Given the description of an element on the screen output the (x, y) to click on. 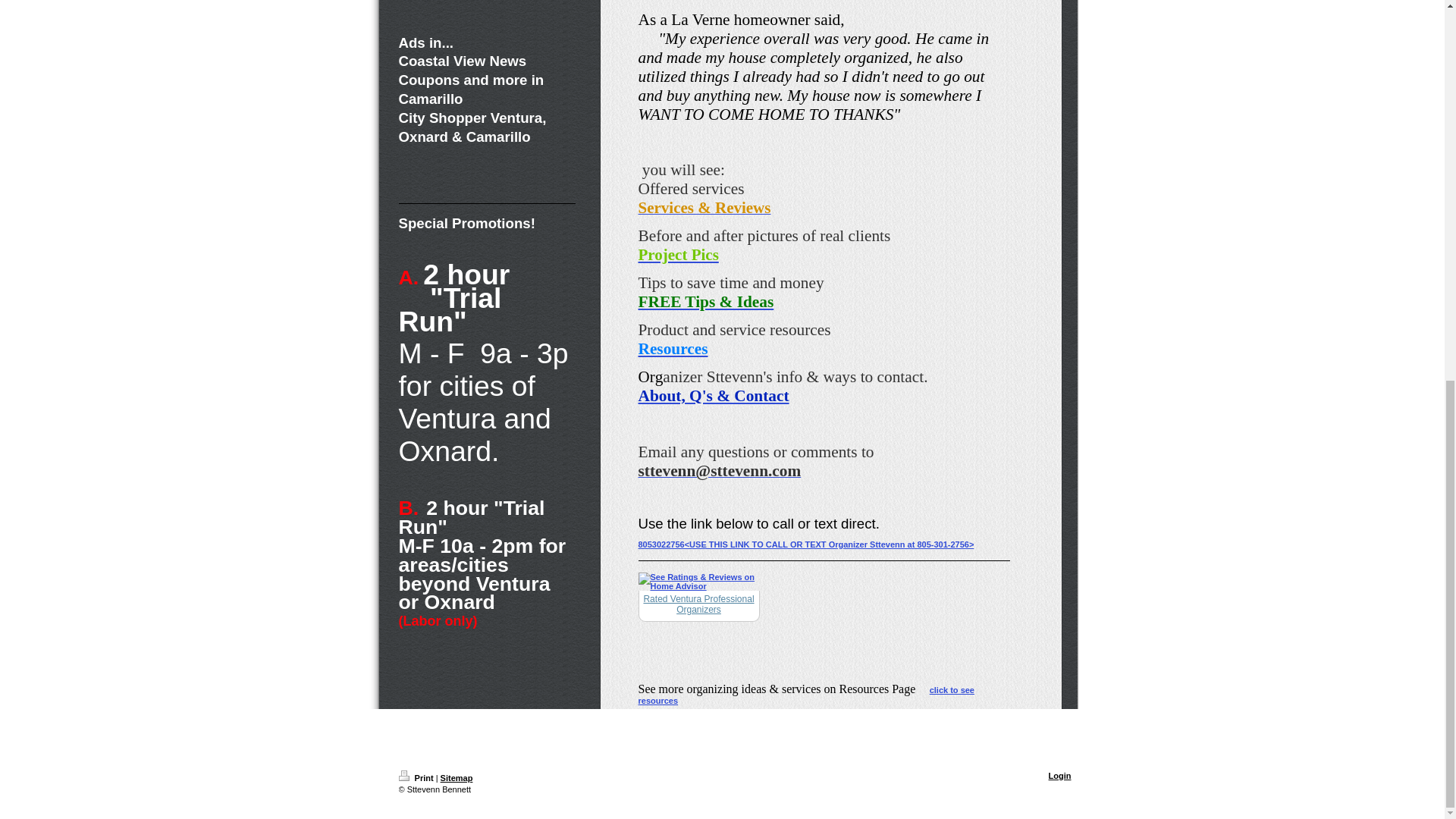
Rated Ventura Professional Organizers (698, 604)
Sitemap (457, 777)
resources (658, 700)
Project Pics (679, 254)
click to see (952, 689)
Resources (673, 348)
Print (416, 777)
Login (1059, 775)
